Given the description of an element on the screen output the (x, y) to click on. 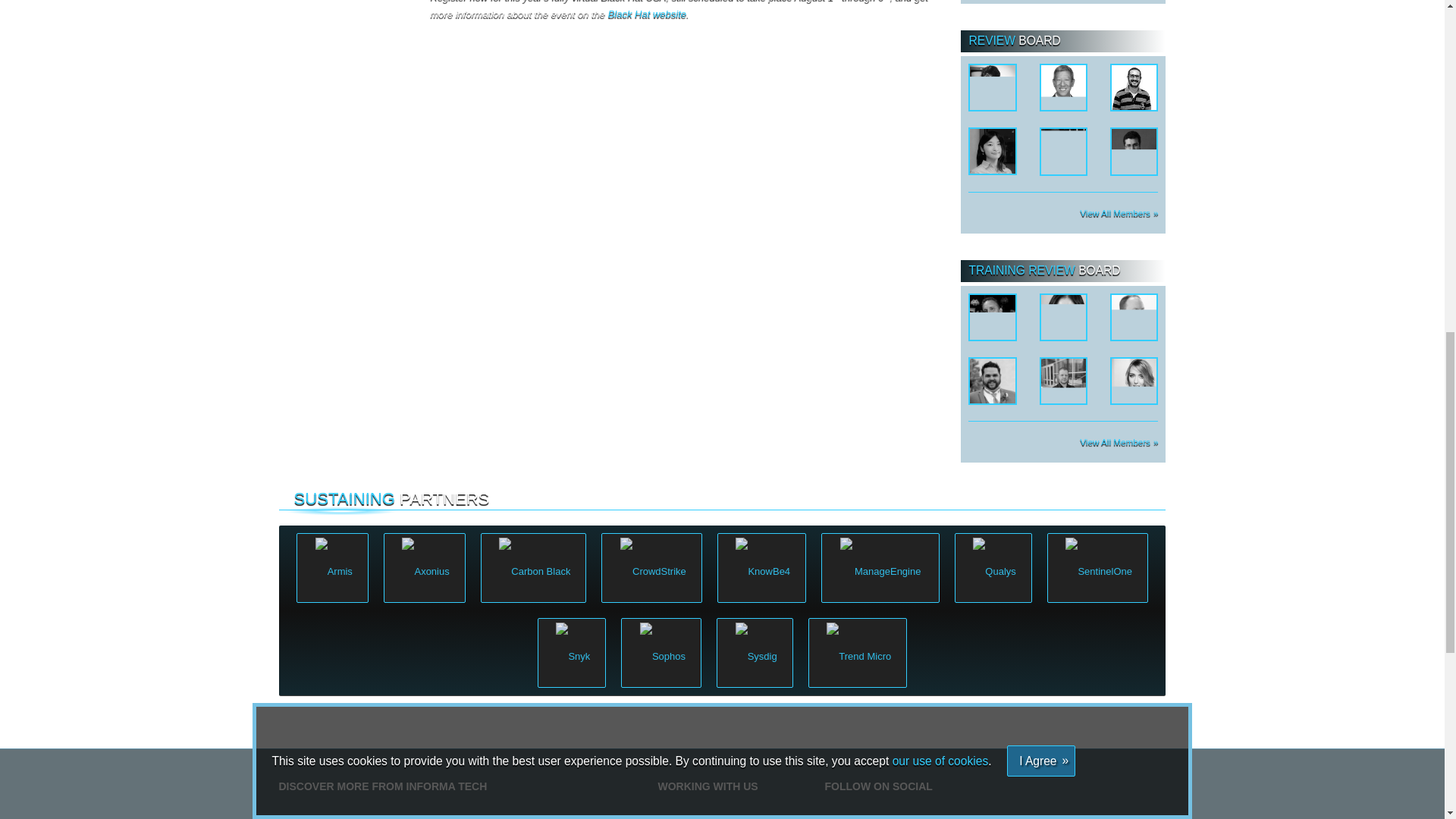
Neil Wyler (1063, 379)
Stefano Zanero (1134, 150)
Monnappa K A (1134, 86)
Chris Eng (1063, 86)
Maria Markstedter (1134, 379)
Ping Look (1063, 316)
Asuka Nakajima (991, 150)
Bart Stump (991, 379)
Kymberlee Price (1063, 150)
Sheila A. Berta (991, 86)
